Given the description of an element on the screen output the (x, y) to click on. 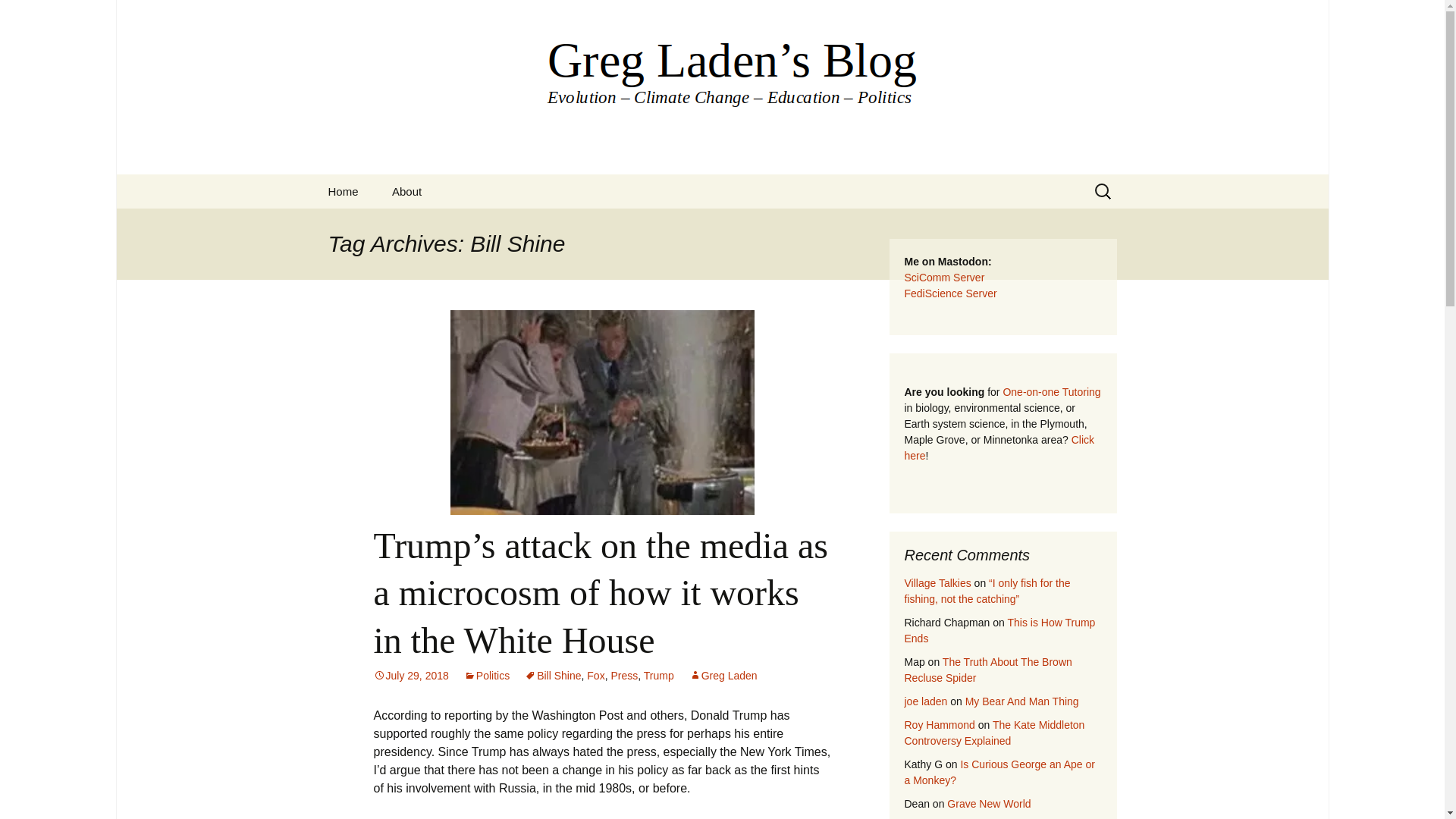
About (406, 191)
Grave New World (988, 803)
Trump (658, 675)
Search (18, 15)
Press (623, 675)
One-on-one Tutoring (1051, 391)
Greg Laden (722, 675)
Home (342, 191)
